Given the description of an element on the screen output the (x, y) to click on. 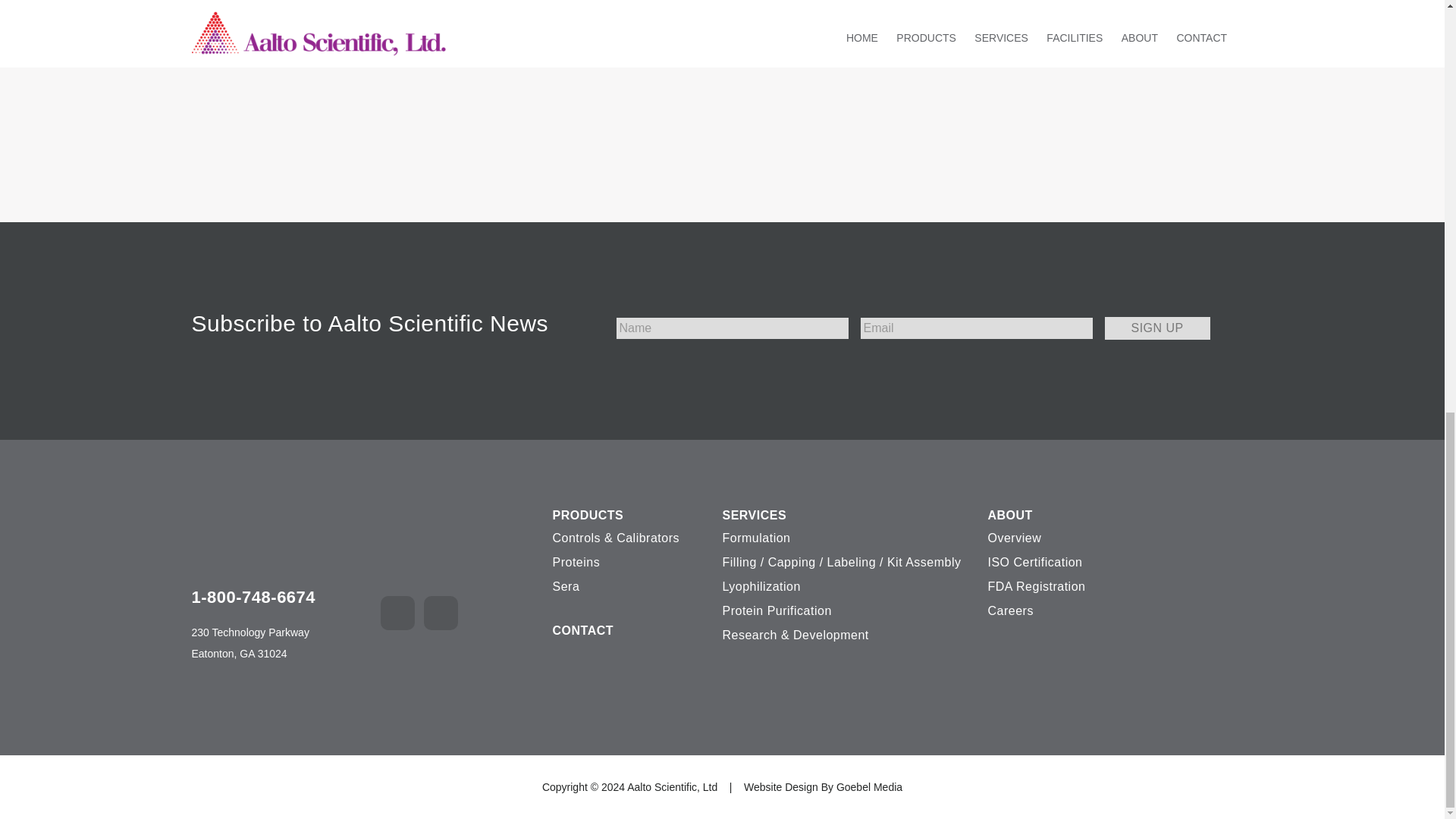
ISO Certification (1088, 562)
ABOUT (1088, 514)
Proteins (625, 562)
Protein Purification (849, 610)
Careers (1088, 610)
Lyophilization (849, 586)
Sign Up (1156, 327)
CONTACT (625, 630)
Overview (1088, 538)
1-800-748-6674 (257, 597)
